Given the description of an element on the screen output the (x, y) to click on. 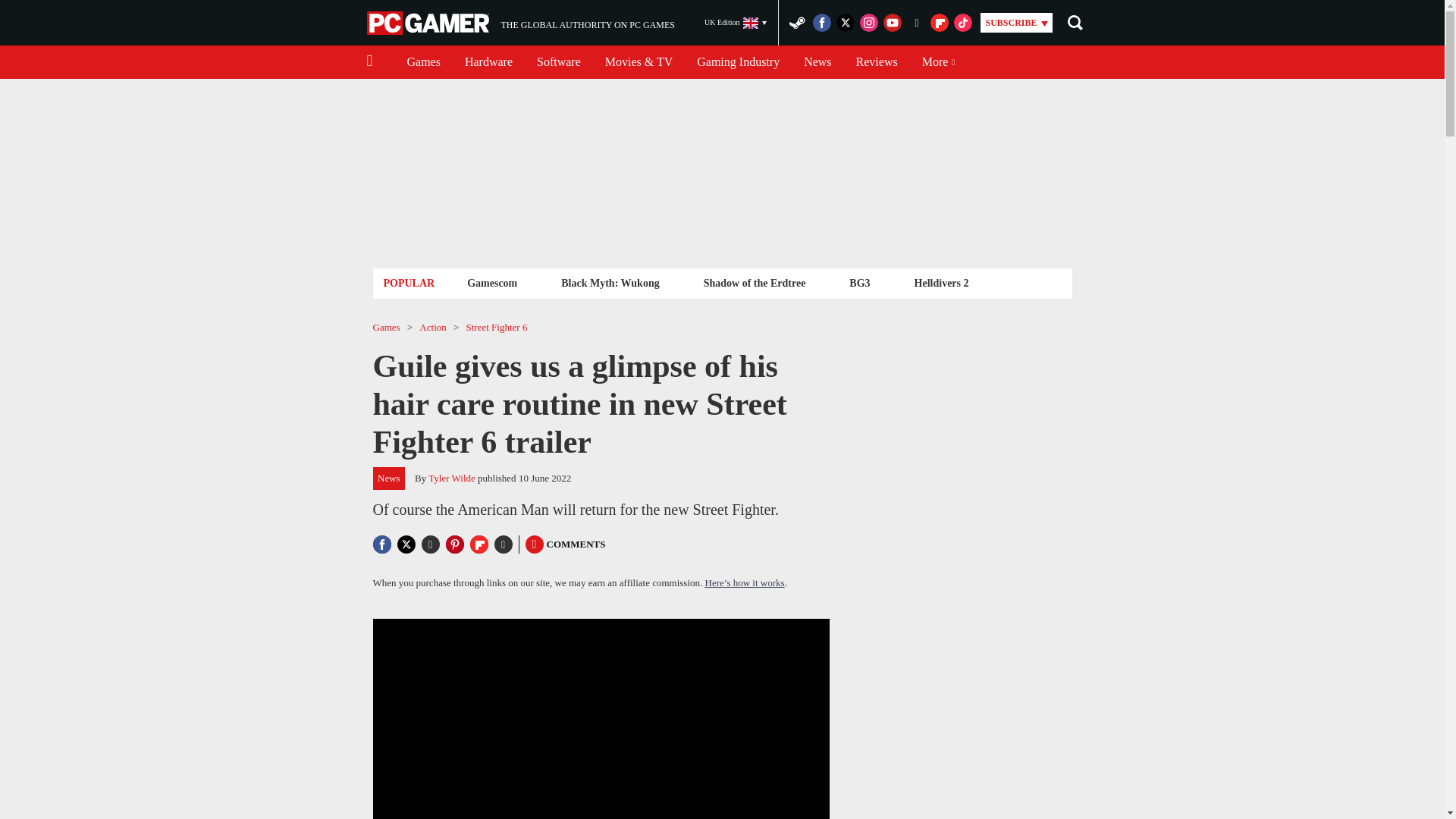
UK Edition (735, 22)
Black Myth: Wukong (609, 282)
Hardware (520, 22)
Gaming Industry (488, 61)
Gamescom (738, 61)
PC Gamer (491, 282)
Reviews (429, 22)
News (877, 61)
Software (817, 61)
